Given the description of an element on the screen output the (x, y) to click on. 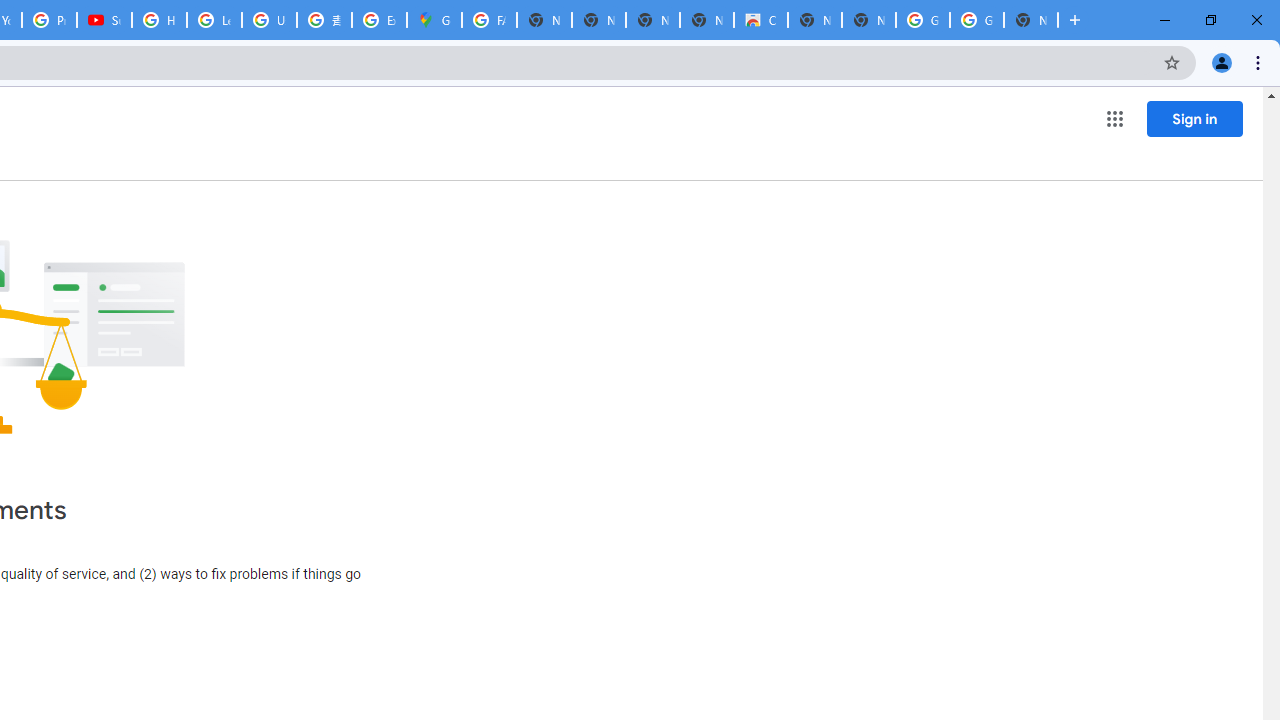
How Chrome protects your passwords - Google Chrome Help (158, 20)
Chrome (1260, 62)
Restore (1210, 20)
Minimize (1165, 20)
Close (1256, 20)
New Tab (1075, 20)
Chrome Web Store (760, 20)
Subscriptions - YouTube (103, 20)
